Given the description of an element on the screen output the (x, y) to click on. 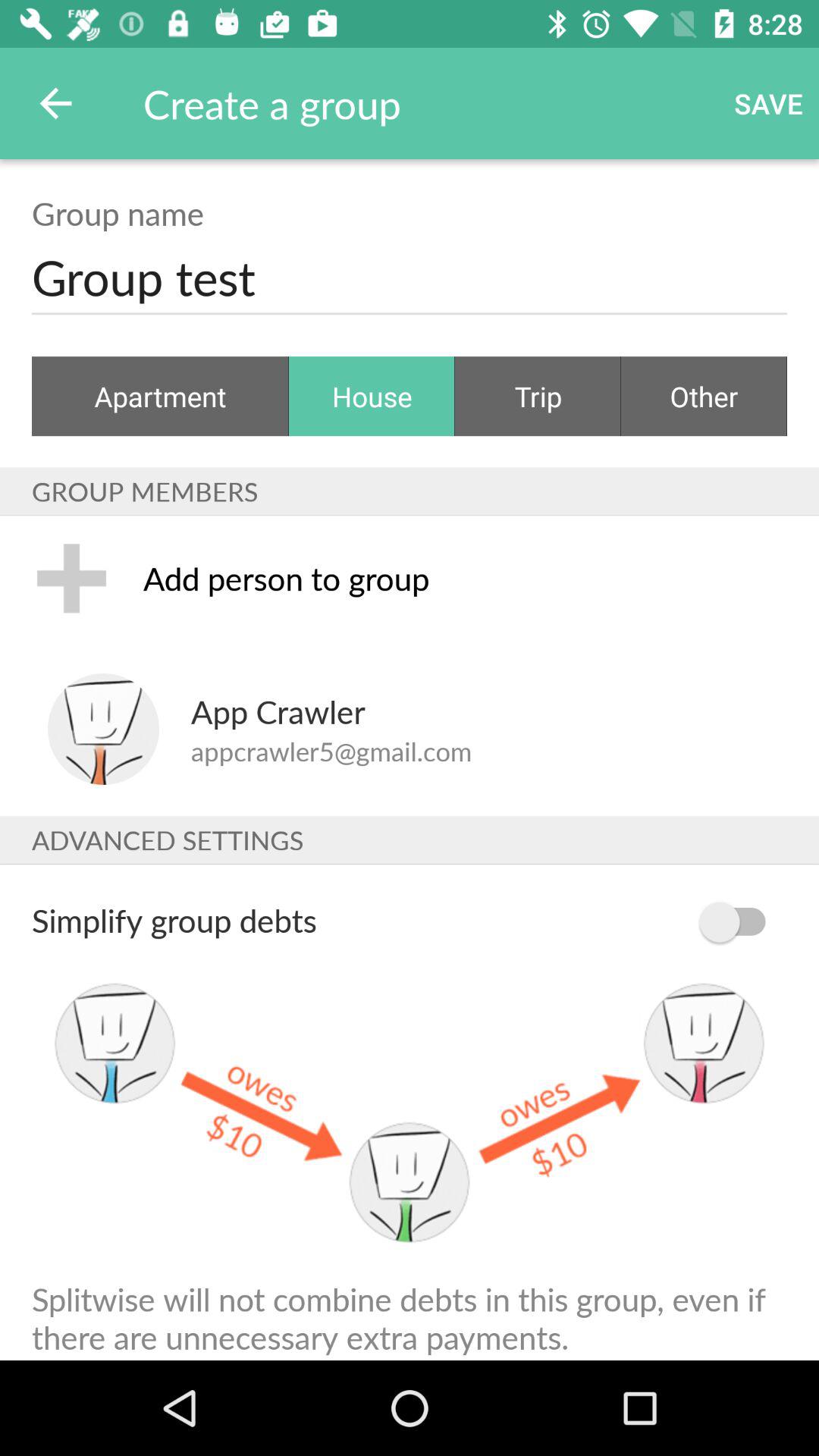
open the app next to create a group app (55, 103)
